Given the description of an element on the screen output the (x, y) to click on. 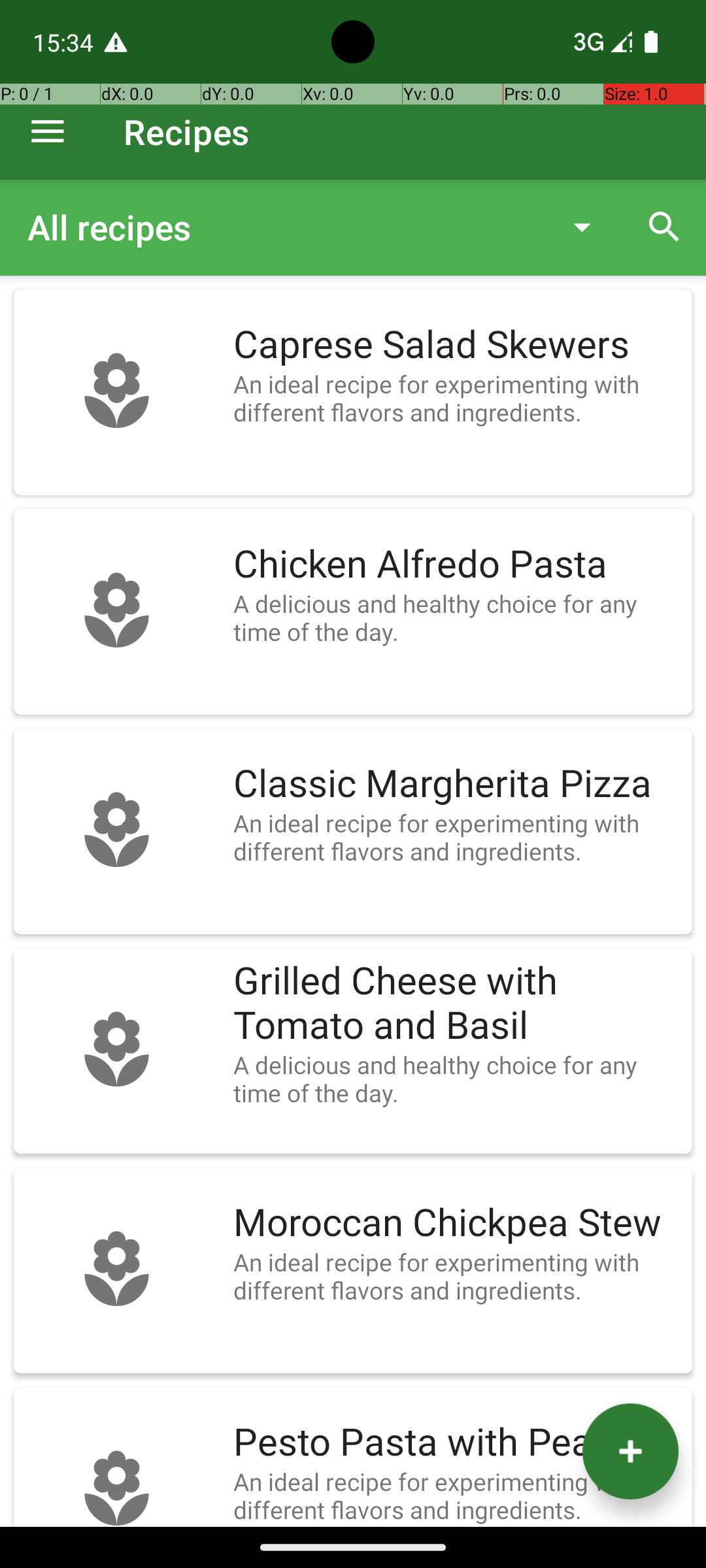
New Recipe Element type: android.widget.ImageButton (630, 1451)
All recipes Element type: android.widget.TextView (283, 226)
Caprese Salad Skewers Element type: android.widget.TextView (455, 344)
An ideal recipe for experimenting with different flavors and ingredients. Element type: android.widget.TextView (455, 397)
Chicken Alfredo Pasta Element type: android.widget.TextView (455, 564)
A delicious and healthy choice for any time of the day. Element type: android.widget.TextView (455, 617)
Classic Margherita Pizza Element type: android.widget.TextView (455, 783)
Grilled Cheese with Tomato and Basil Element type: android.widget.TextView (455, 1003)
Moroccan Chickpea Stew Element type: android.widget.TextView (455, 1222)
Pesto Pasta with Peas Element type: android.widget.TextView (455, 1442)
